Given the description of an element on the screen output the (x, y) to click on. 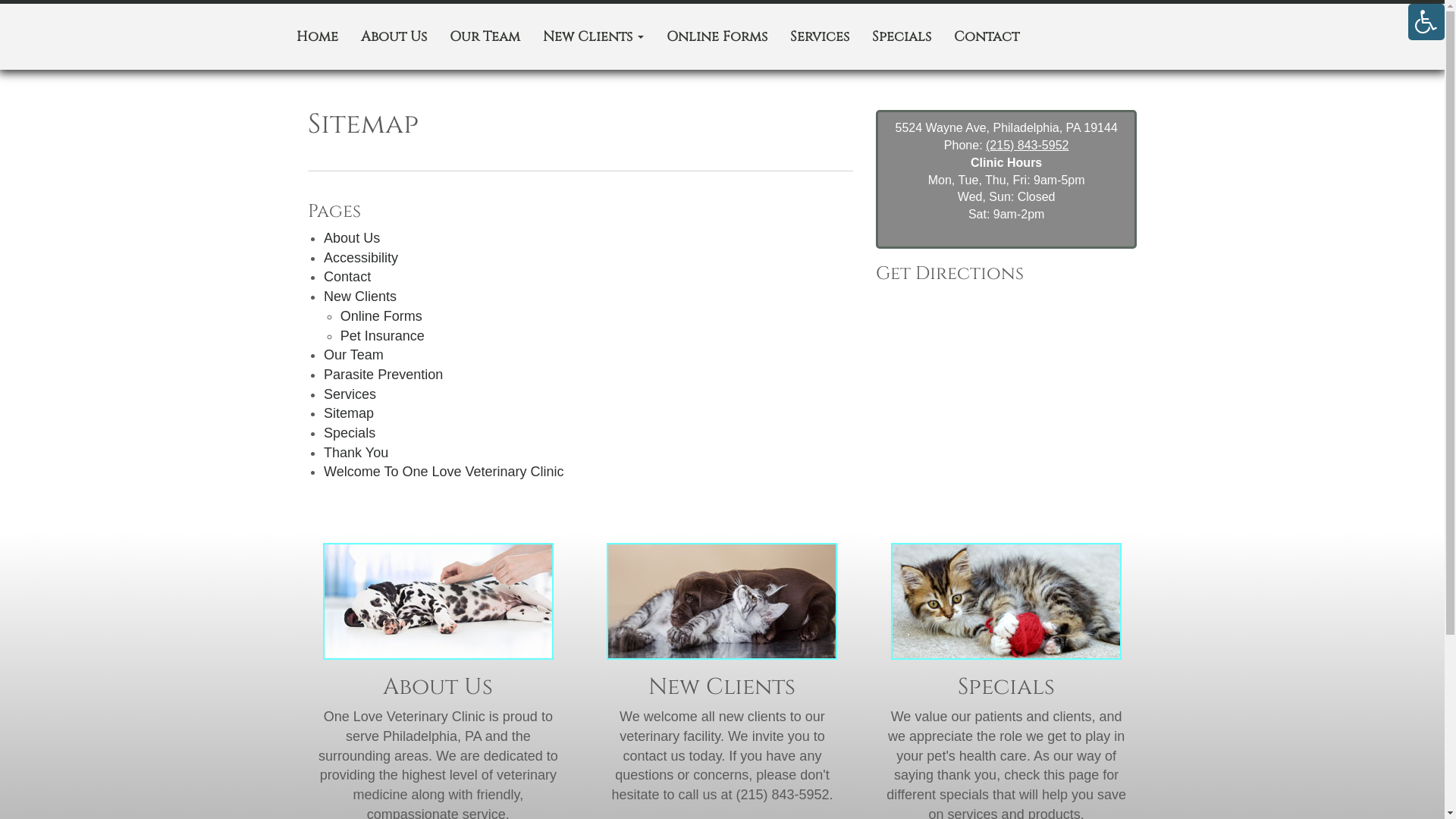
Thank You Element type: text (355, 452)
New Clients Element type: text (359, 296)
Contact Element type: text (985, 36)
Online Forms Element type: text (381, 315)
New Clients Element type: text (592, 36)
Accessibility Element type: text (360, 257)
Services Element type: text (818, 36)
Sitemap Element type: text (348, 412)
Welcome To One Love Veterinary Clinic Element type: text (443, 471)
Online Forms Element type: text (716, 36)
Pet Insurance Element type: text (382, 334)
Accessibility Helper sidebar Element type: hover (1426, 21)
(215) 843-5952 Element type: text (1026, 144)
Our Team Element type: text (484, 36)
Parasite Prevention Element type: text (382, 374)
Contact Element type: text (346, 276)
Services Element type: text (349, 393)
Our Team Element type: text (353, 354)
About Us Element type: text (392, 36)
About Us Element type: text (351, 237)
Specials Element type: text (349, 432)
Specials Element type: text (900, 36)
Home Element type: text (317, 36)
